Given the description of an element on the screen output the (x, y) to click on. 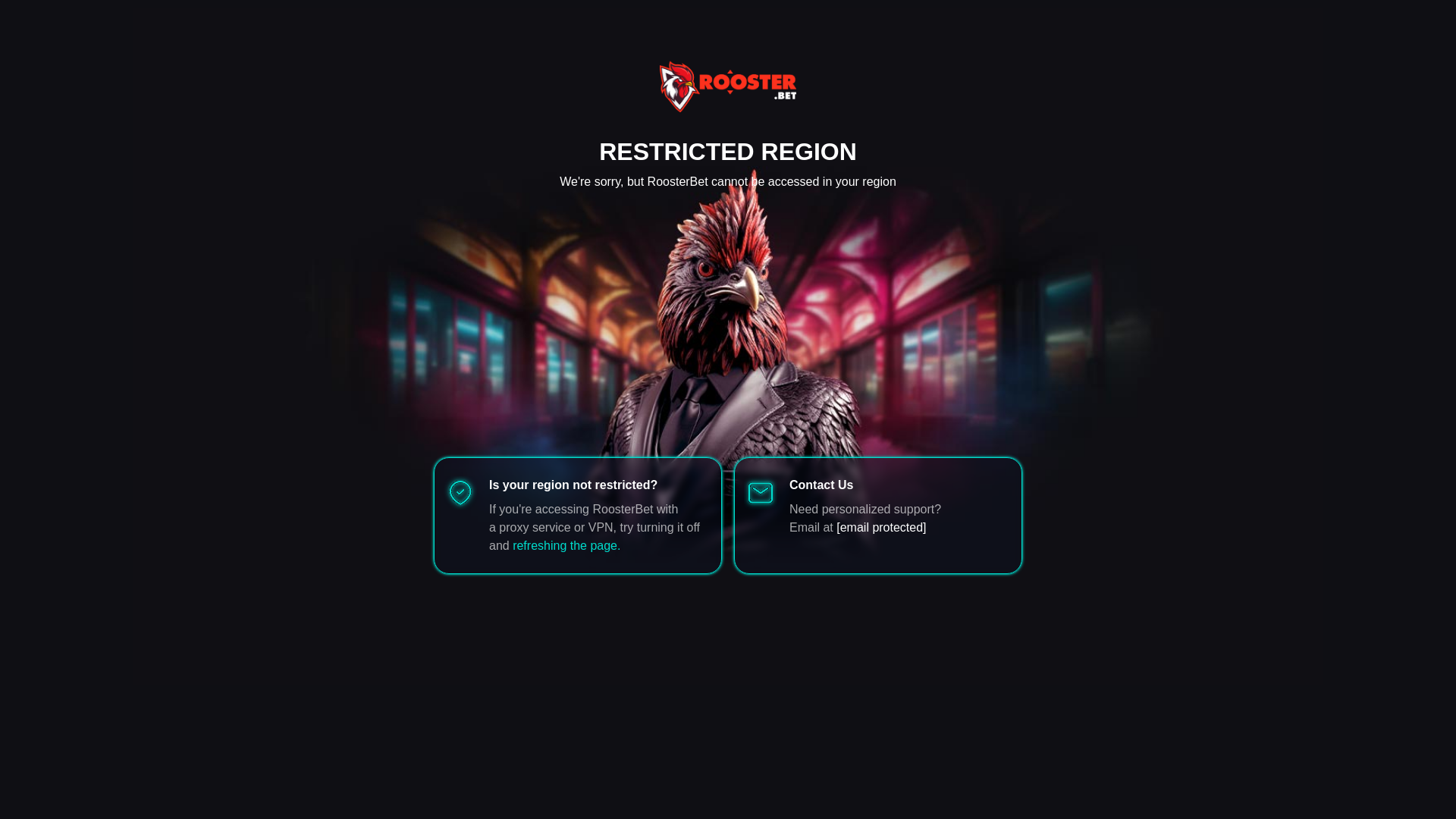
refreshing the page. (566, 545)
